Given the description of an element on the screen output the (x, y) to click on. 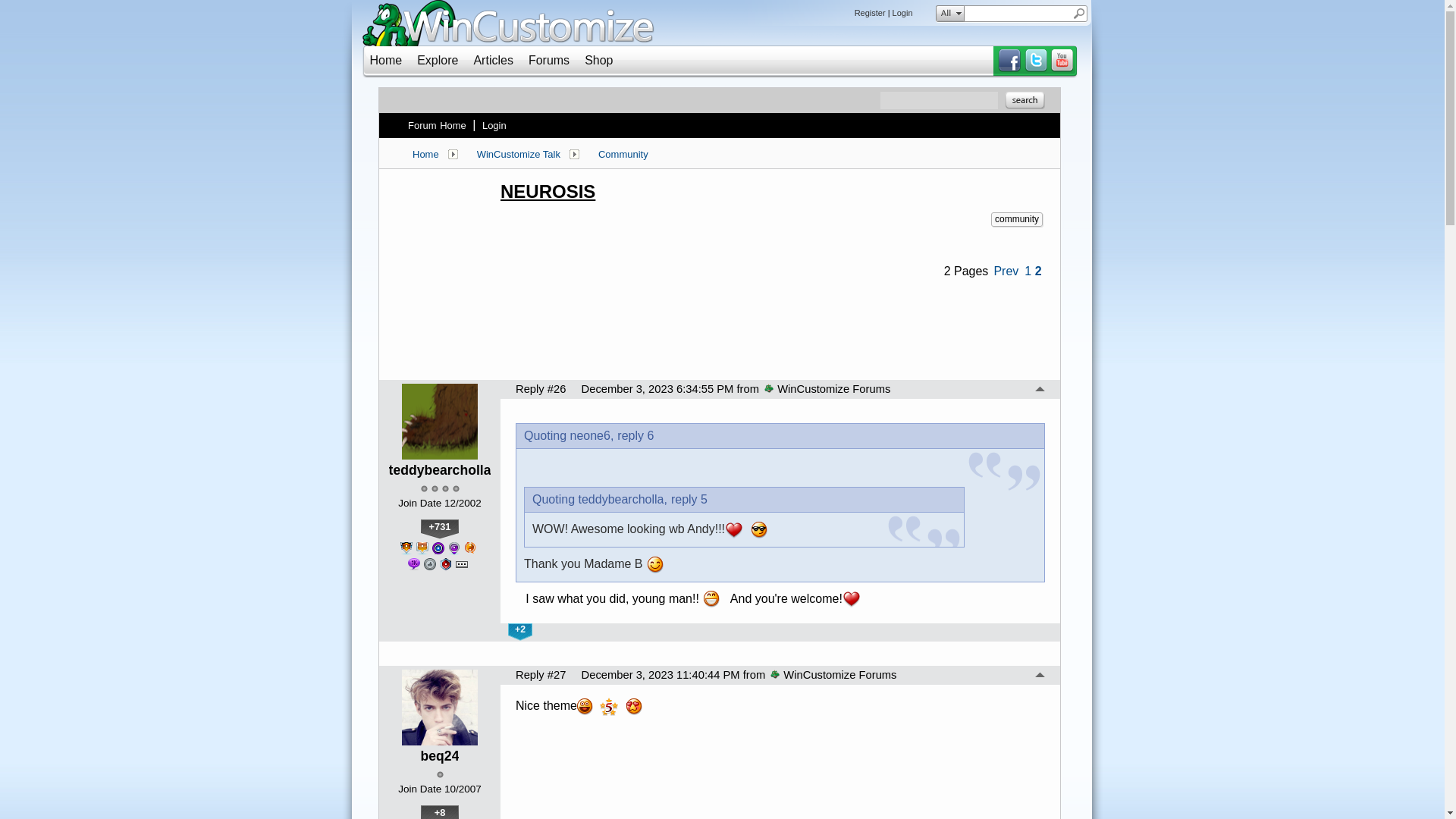
Click to view original post (771, 191)
Register (869, 12)
Shop (598, 60)
Login (493, 125)
Explore (437, 60)
community (1016, 219)
Articles (492, 60)
Home (425, 154)
Home (386, 60)
Forums (548, 60)
